Given the description of an element on the screen output the (x, y) to click on. 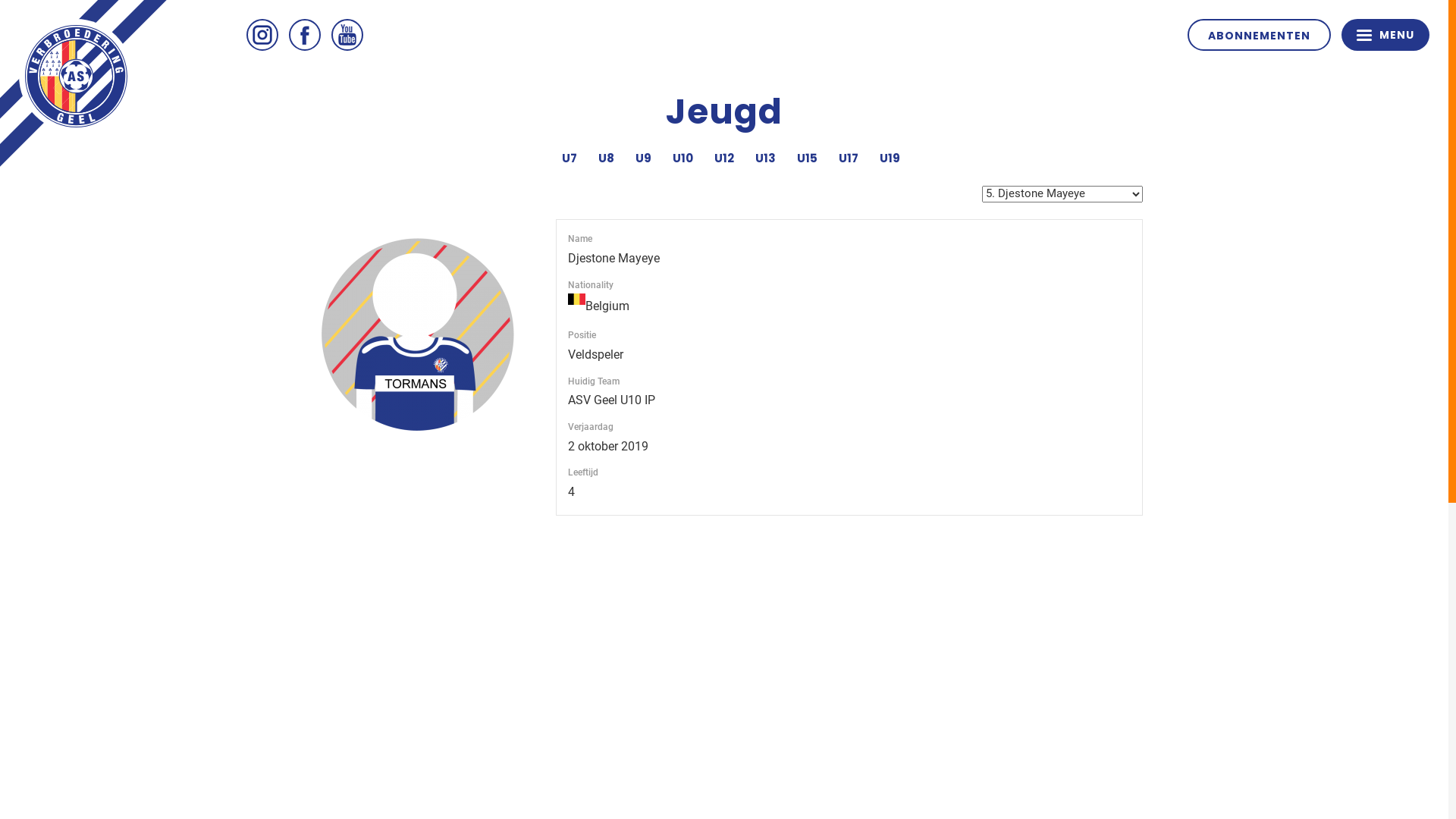
U12 Element type: text (724, 158)
MENU Element type: text (1385, 34)
U9 Element type: text (643, 158)
Facebook Element type: text (304, 34)
Instagram Element type: text (262, 34)
ASV Geel Element type: text (75, 75)
U15 Element type: text (806, 158)
U10 Element type: text (682, 158)
ABONNEMENTEN Element type: text (1258, 34)
U13 Element type: text (765, 158)
U8 Element type: text (606, 158)
Youtube Element type: text (347, 34)
U7 Element type: text (569, 158)
U19 Element type: text (889, 158)
U17 Element type: text (848, 158)
